Given the description of an element on the screen output the (x, y) to click on. 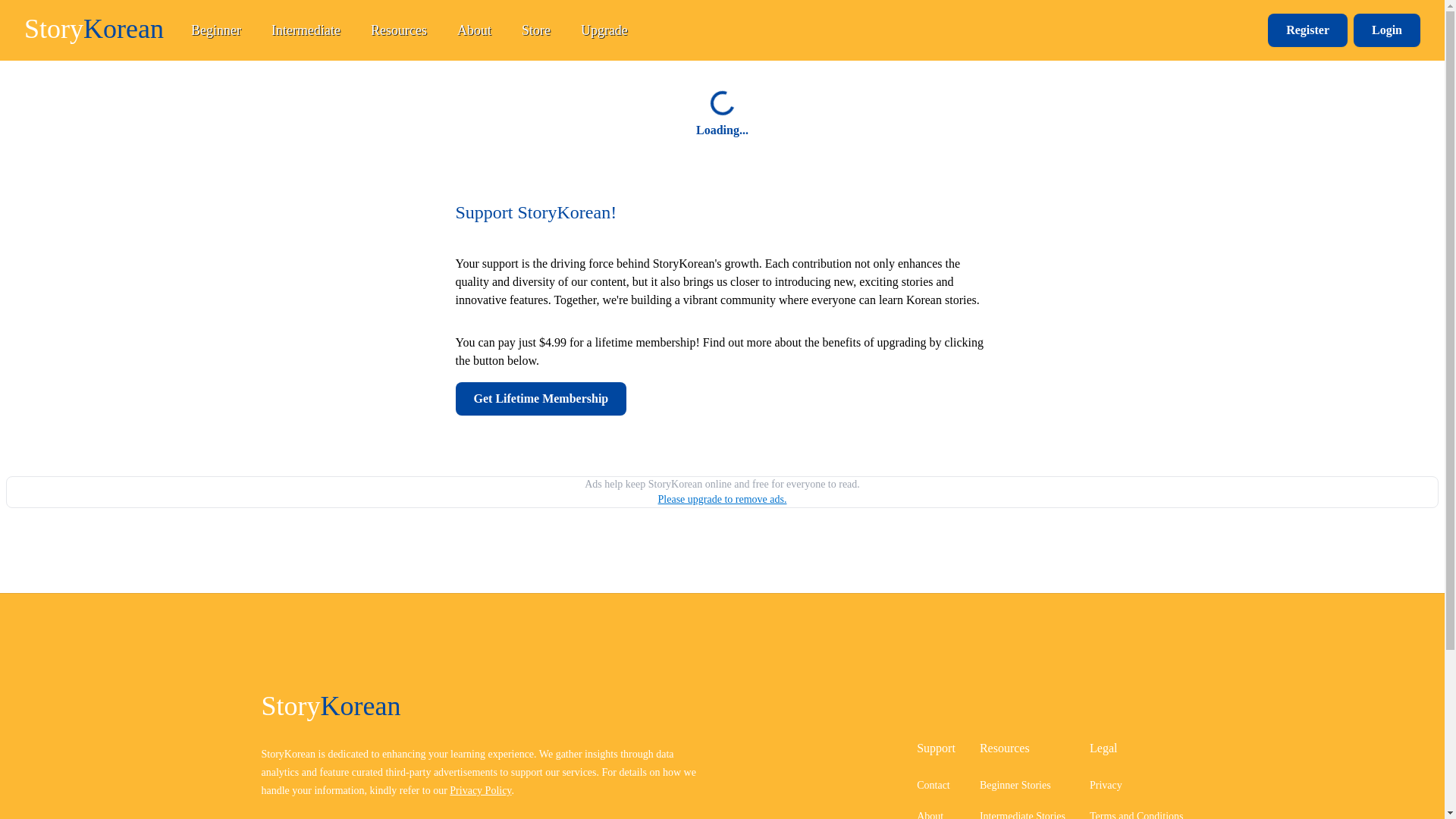
Privacy (1105, 785)
Beginner (216, 29)
StoryKorean (93, 28)
Get Lifetime Membership (721, 398)
Privacy Policy (480, 790)
Intermediate Stories (1022, 814)
Upgrade (604, 29)
Store (535, 29)
Beginner Stories (1015, 785)
Get Lifetime Membership (540, 398)
Register (1308, 29)
StoryKorean (485, 706)
Contact (933, 785)
Please upgrade to remove ads. (722, 499)
About (930, 814)
